Given the description of an element on the screen output the (x, y) to click on. 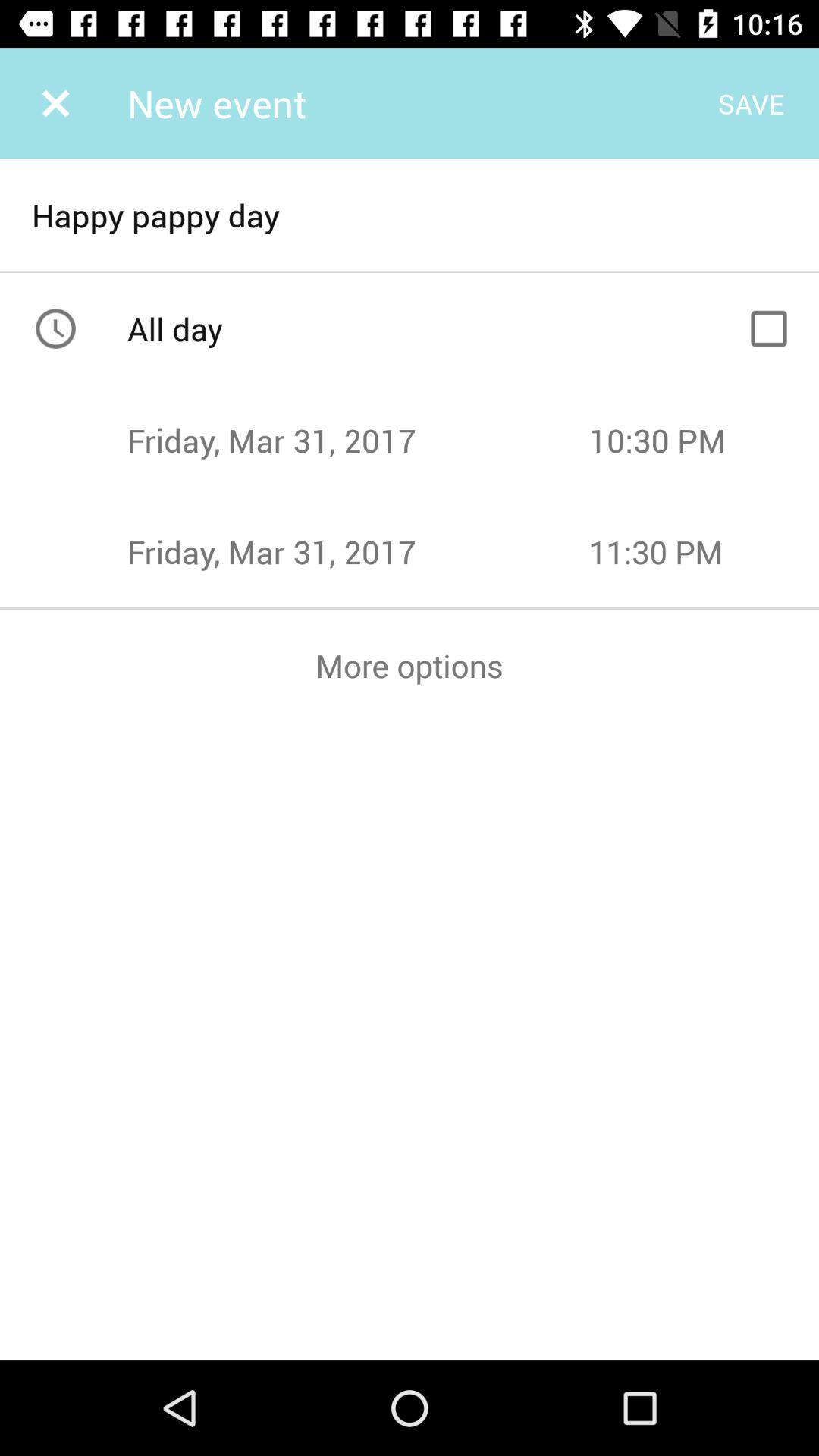
click on close icon (55, 103)
click on the time above 1130 pm (703, 440)
select the text below all day (357, 440)
select the text left to 1130 pm (357, 551)
click on save on the right side of new event (751, 103)
